Given the description of an element on the screen output the (x, y) to click on. 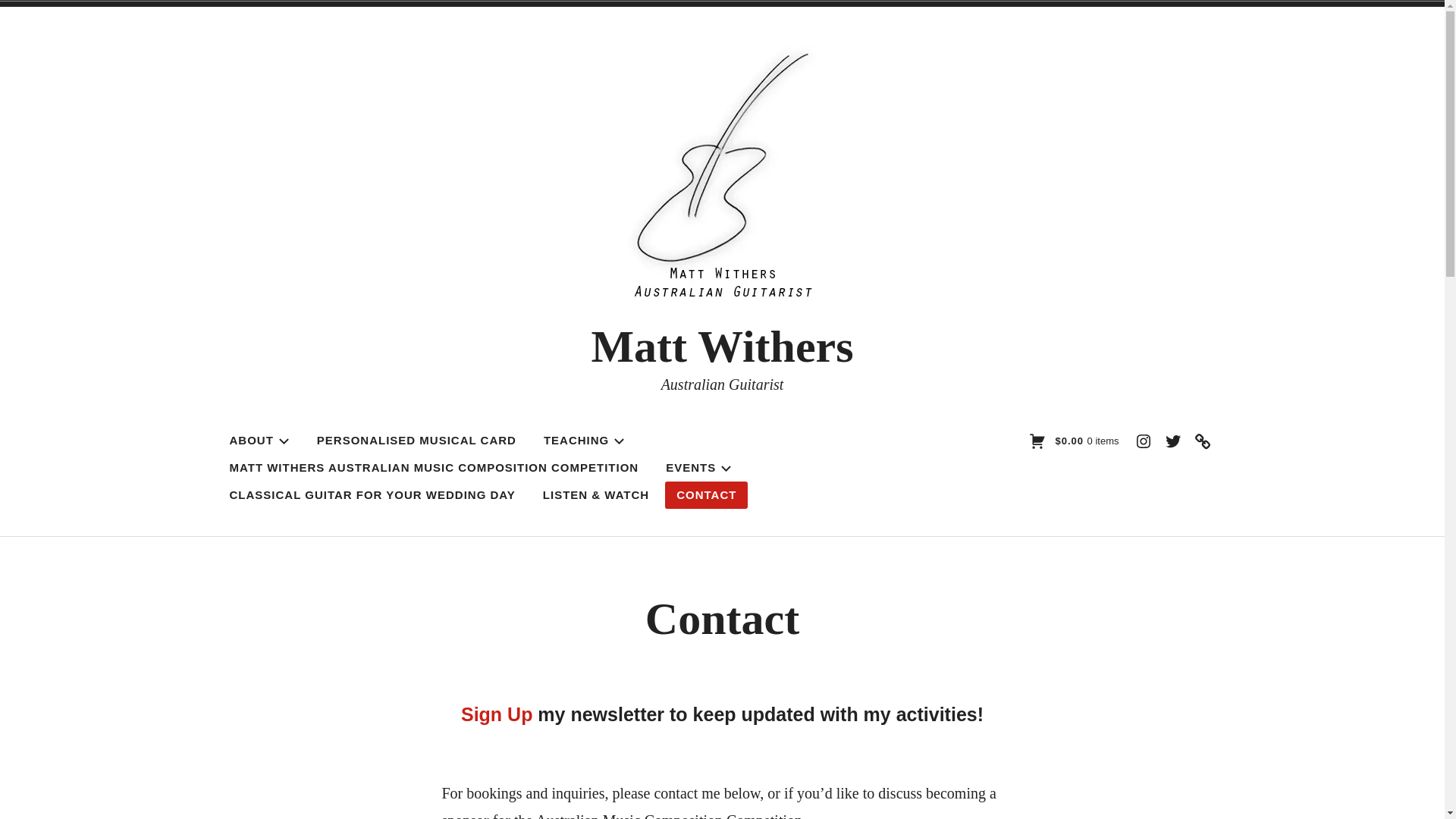
PERSONALISED MUSICAL CARD Element type: text (416, 440)
EVENTS Element type: text (698, 467)
TEACHING Element type: text (584, 440)
VIEW YOUR SHOPPING CART $0.00 0 items Element type: text (1073, 442)
LISTEN & WATCH Element type: text (595, 494)
Matt Withers Element type: text (721, 346)
Sign Up Element type: text (496, 713)
ABOUT Element type: text (259, 440)
CONTACT Element type: text (706, 494)
CLASSICAL GUITAR FOR YOUR WEDDING DAY Element type: text (372, 494)
Twitter Element type: text (1173, 440)
MATT WITHERS AUSTRALIAN MUSIC COMPOSITION COMPETITION Element type: text (434, 467)
Instagram Element type: text (1142, 440)
Facebook Element type: text (1201, 440)
